Given the description of an element on the screen output the (x, y) to click on. 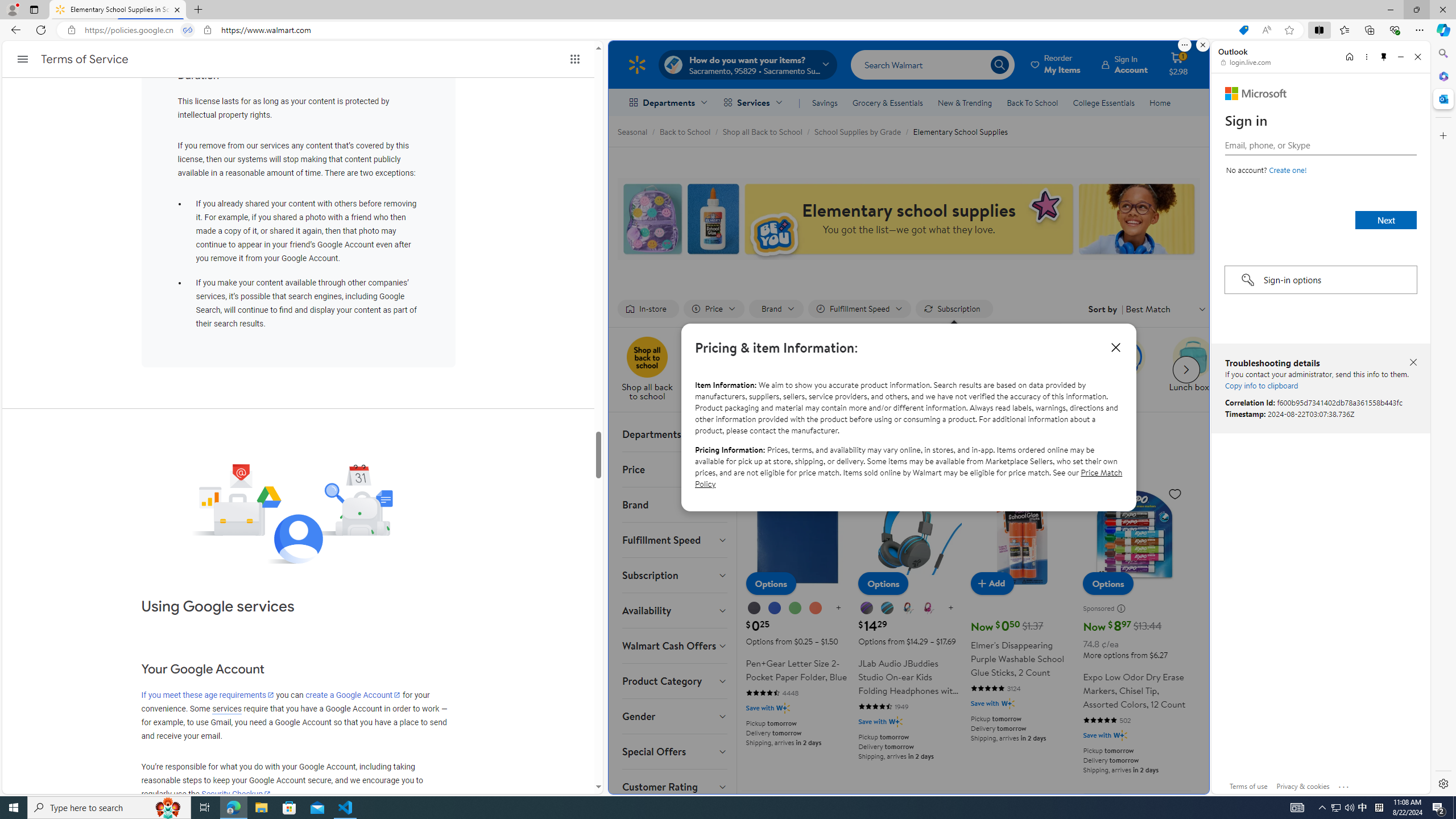
Close Search pane (1442, 53)
Click here for troubleshooting information (1344, 784)
Sign-in options (1320, 279)
Price Match Policy (908, 477)
More options. (1183, 45)
Next (1385, 220)
